Given the description of an element on the screen output the (x, y) to click on. 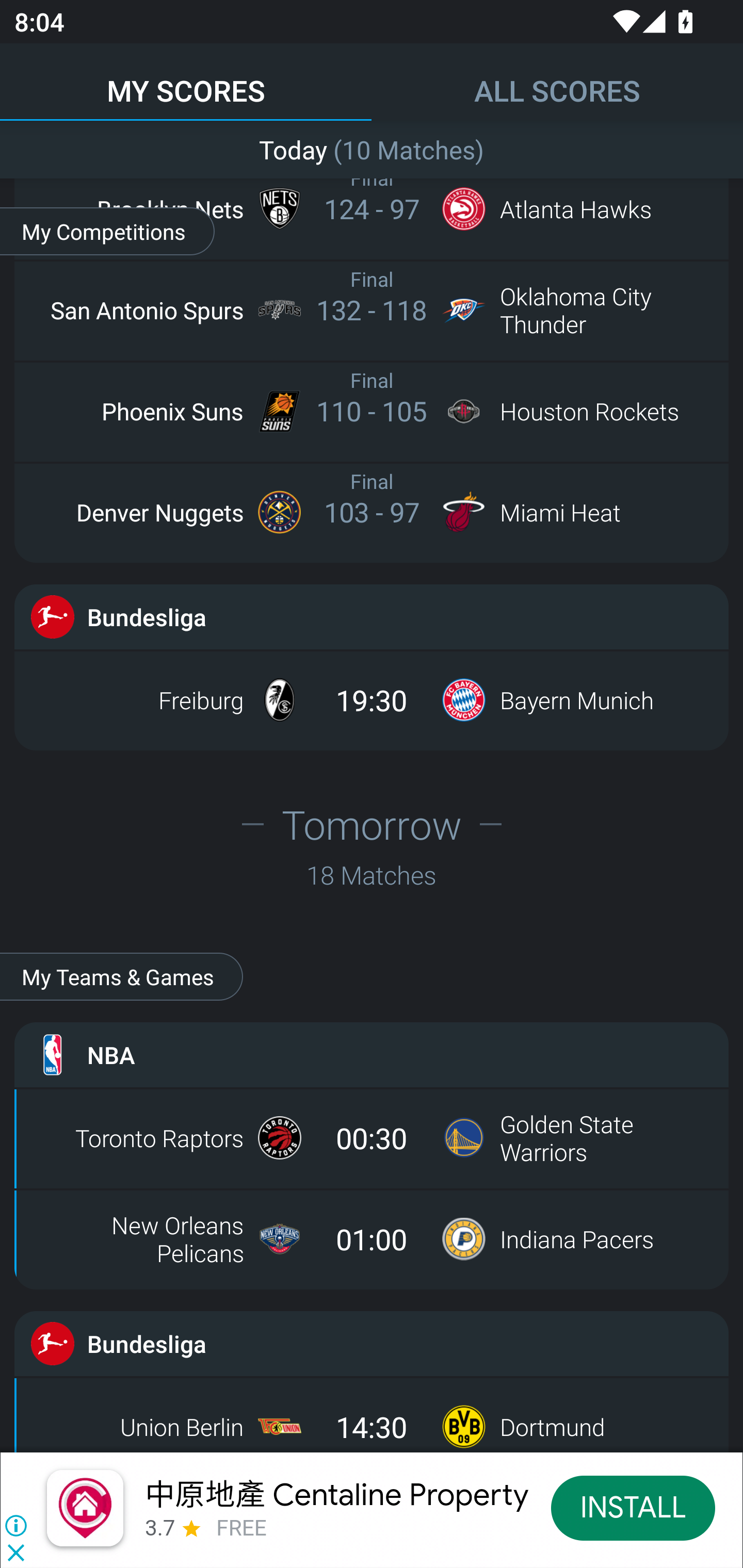
MY SCORES (185, 81)
ALL SCORES (557, 81)
Brooklyn Nets Final 124 - 97 Atlanta Hawks (371, 208)
Phoenix Suns Final 110 - 105 Houston Rockets (371, 410)
Denver Nuggets Final 103 - 97 Miami Heat (371, 511)
Bundesliga (371, 616)
Freiburg 19:30 Bayern Munich (371, 700)
NBA (371, 1054)
Toronto Raptors 00:30 Golden State Warriors (371, 1137)
New Orleans Pelicans 01:00 Indiana Pacers (371, 1238)
Bundesliga (371, 1343)
Union Berlin 14:30 Dortmund (371, 1419)
中原地產 Centaline Property (335, 1493)
INSTALL (632, 1507)
